Given the description of an element on the screen output the (x, y) to click on. 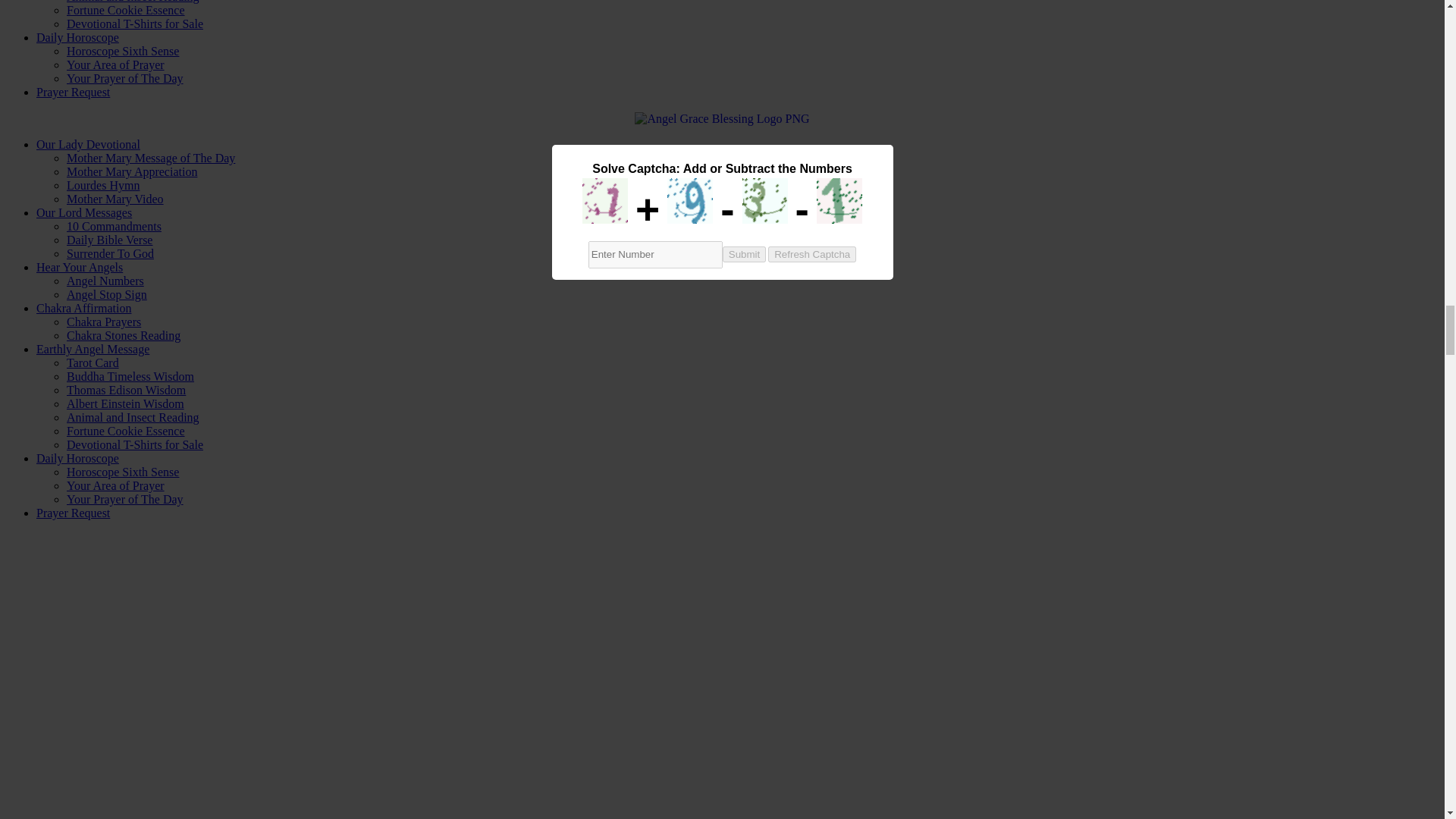
cropped-agb-logo-skyblue.png (721, 119)
